Given the description of an element on the screen output the (x, y) to click on. 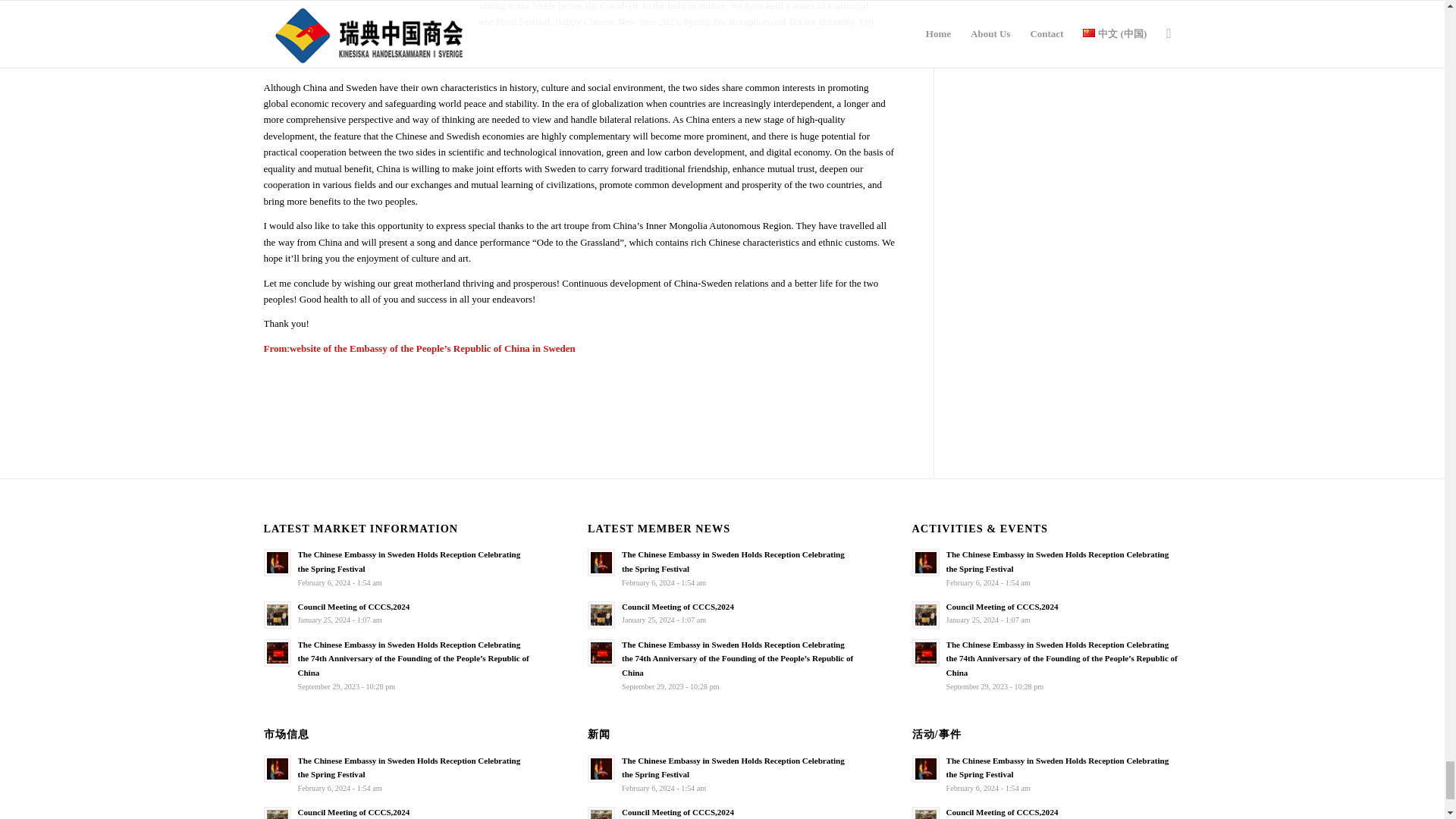
Council Meeting of CCCS,2024 (353, 605)
Council Meeting of CCCS,2024 (677, 605)
Council Meeting of CCCS,2024 (353, 811)
